Given the description of an element on the screen output the (x, y) to click on. 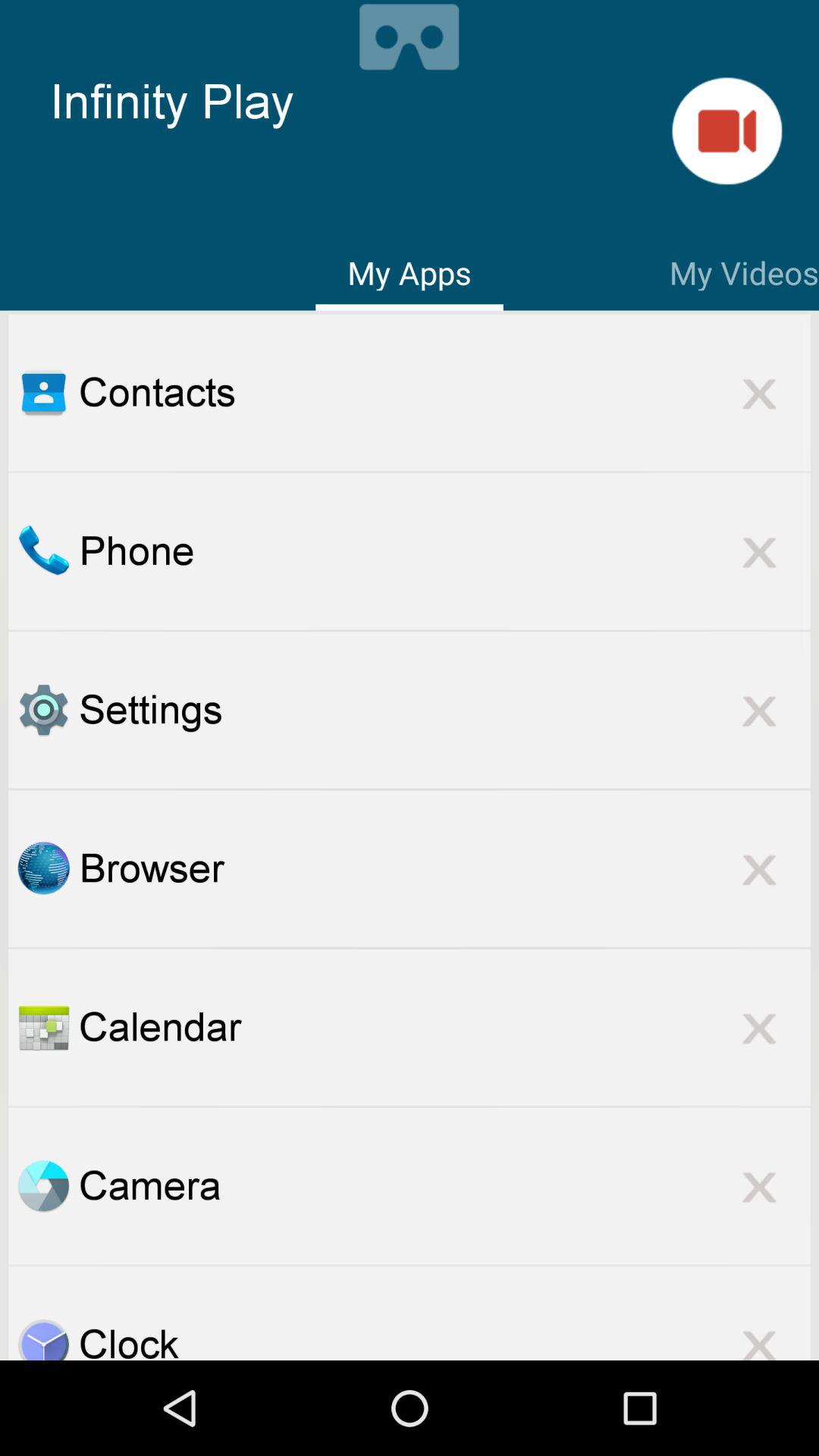
select the calender (43, 1026)
